Given the description of an element on the screen output the (x, y) to click on. 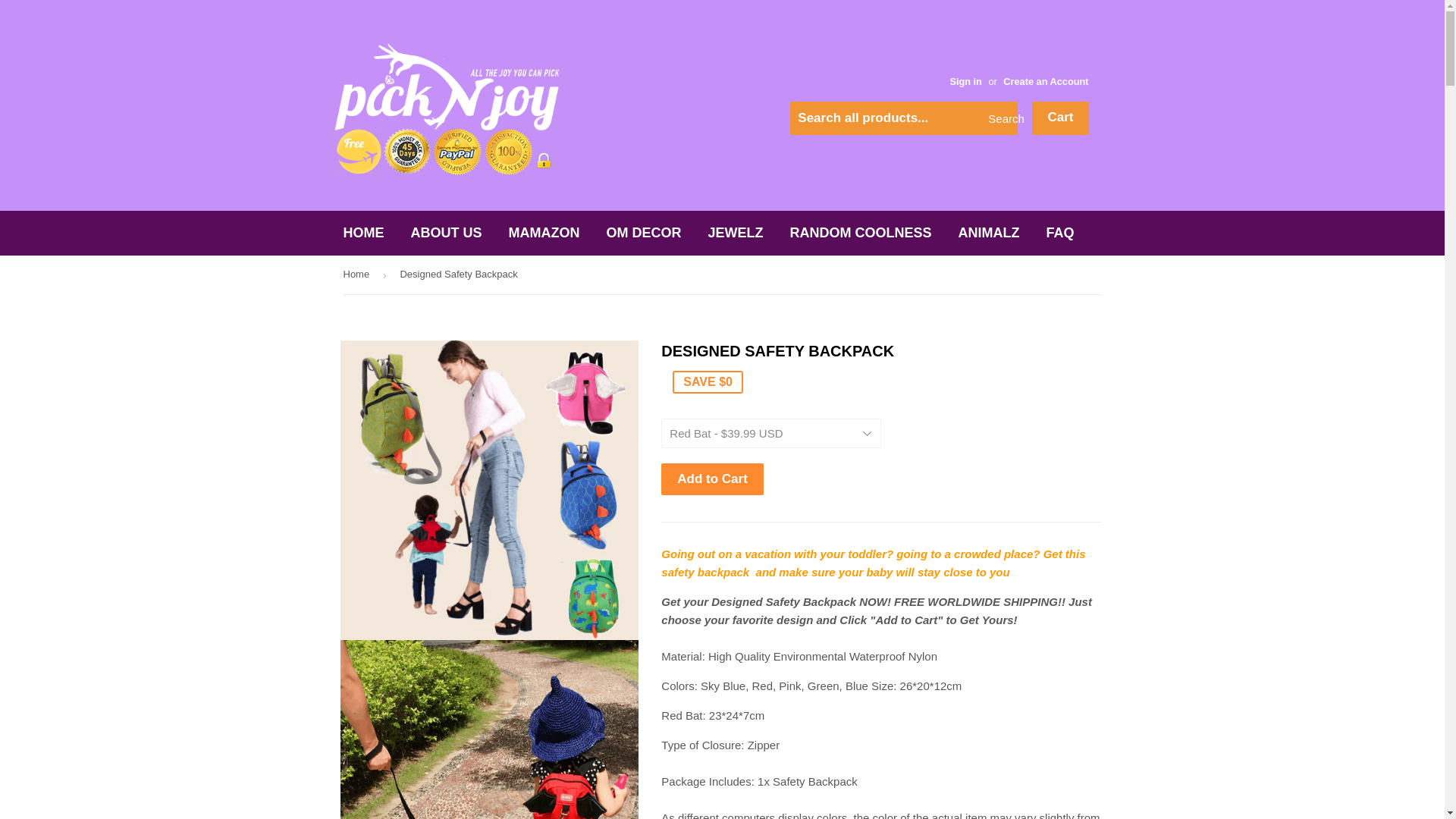
OM DECOR (644, 232)
ANIMALZ (988, 232)
ABOUT US (445, 232)
HOME (363, 232)
Create an Account (1045, 81)
Search (1000, 119)
MAMAZON (544, 232)
Sign in (965, 81)
Cart (1059, 118)
FAQ (1060, 232)
